Given the description of an element on the screen output the (x, y) to click on. 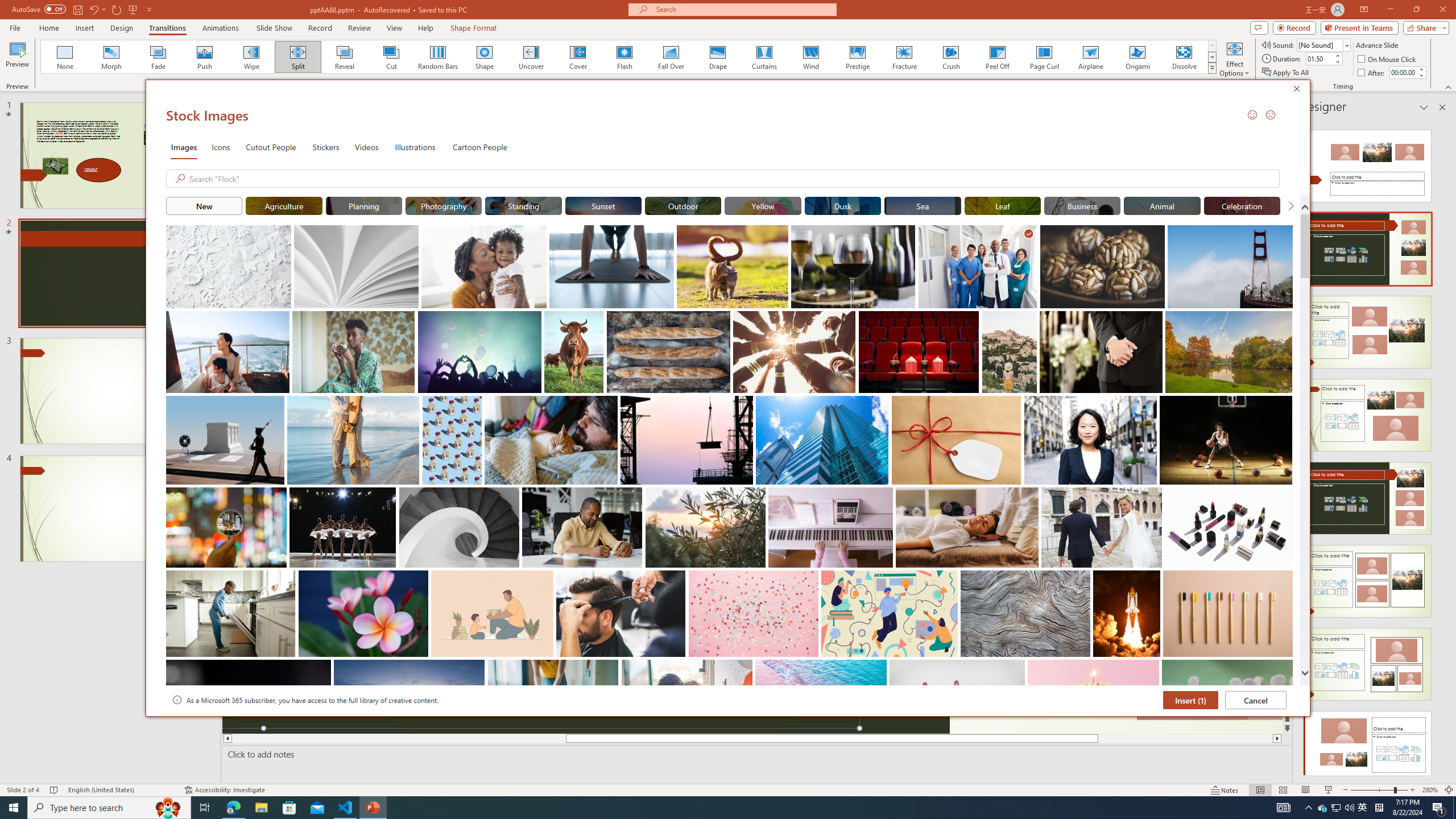
Spell Check No Errors (54, 790)
"Photography" Stock Images. (443, 205)
After (1403, 72)
Reading View (1305, 790)
Crush (950, 56)
Fracture (903, 56)
Shape Format (473, 28)
None (65, 56)
Visual Studio Code - 1 running window (345, 807)
